Given the description of an element on the screen output the (x, y) to click on. 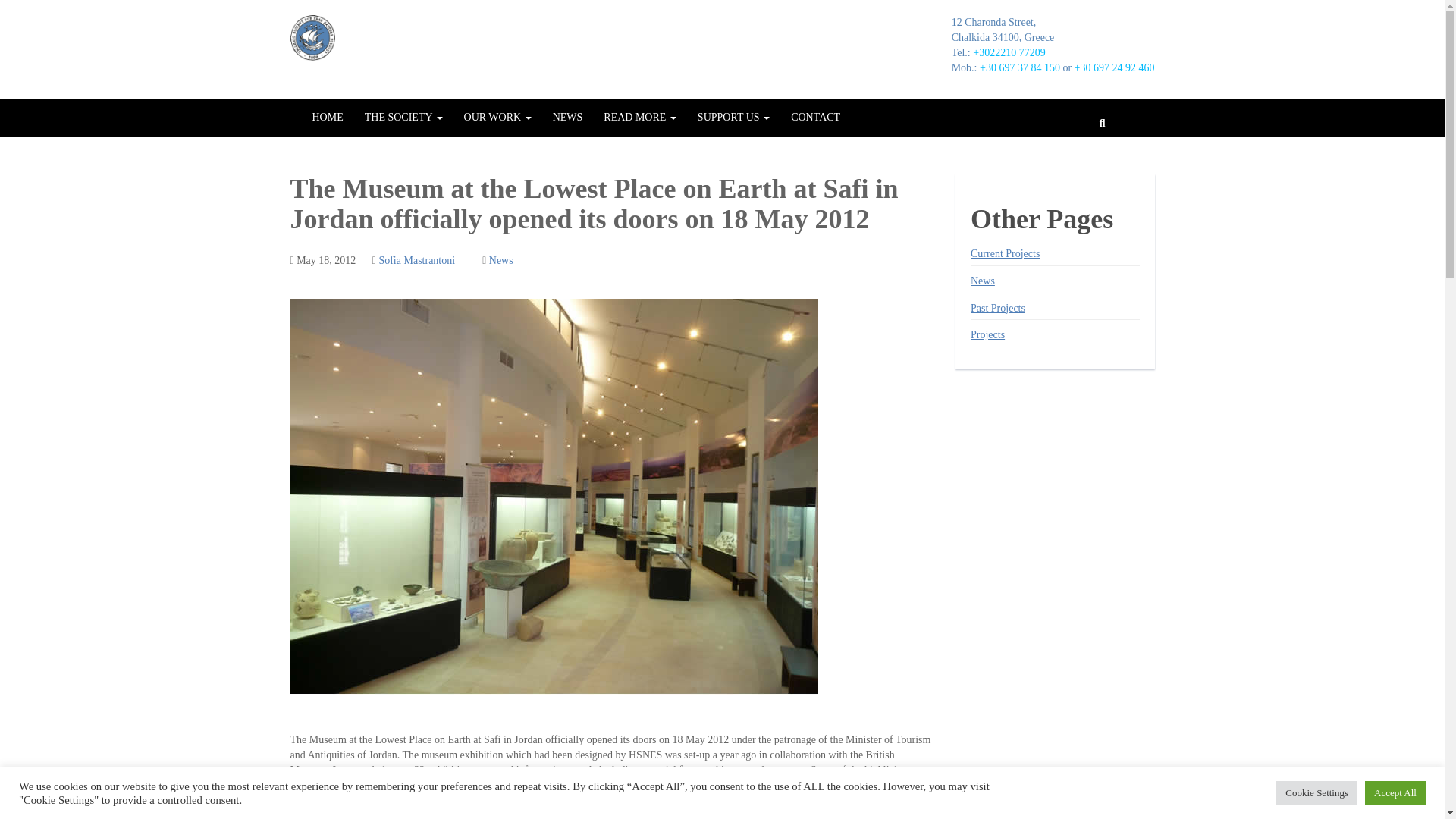
The Society (403, 117)
HOME (328, 117)
THE SOCIETY (403, 117)
Logo (311, 37)
Our Work (497, 117)
Home (328, 117)
